Given the description of an element on the screen output the (x, y) to click on. 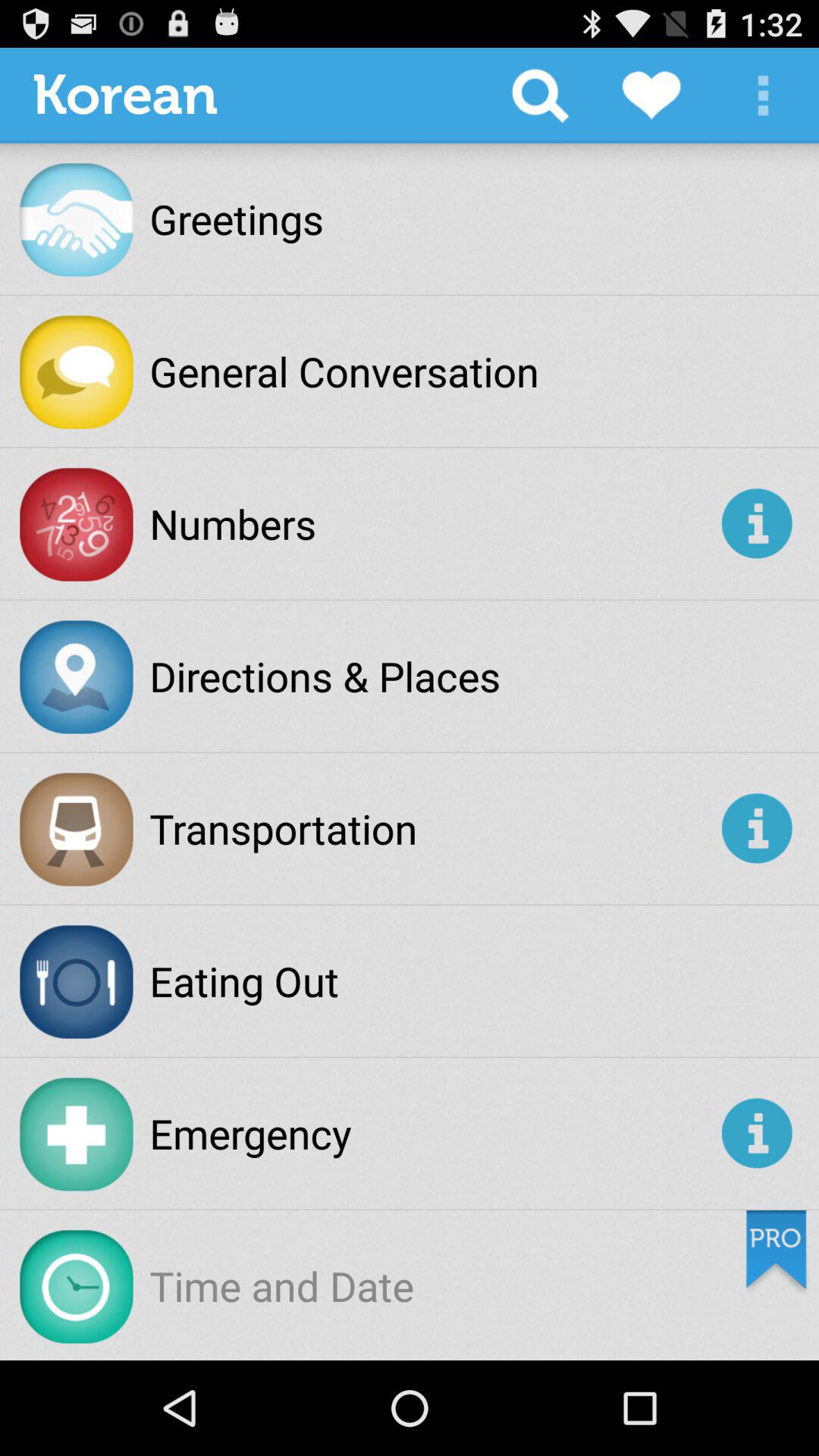
press the item next to the korean (540, 95)
